Given the description of an element on the screen output the (x, y) to click on. 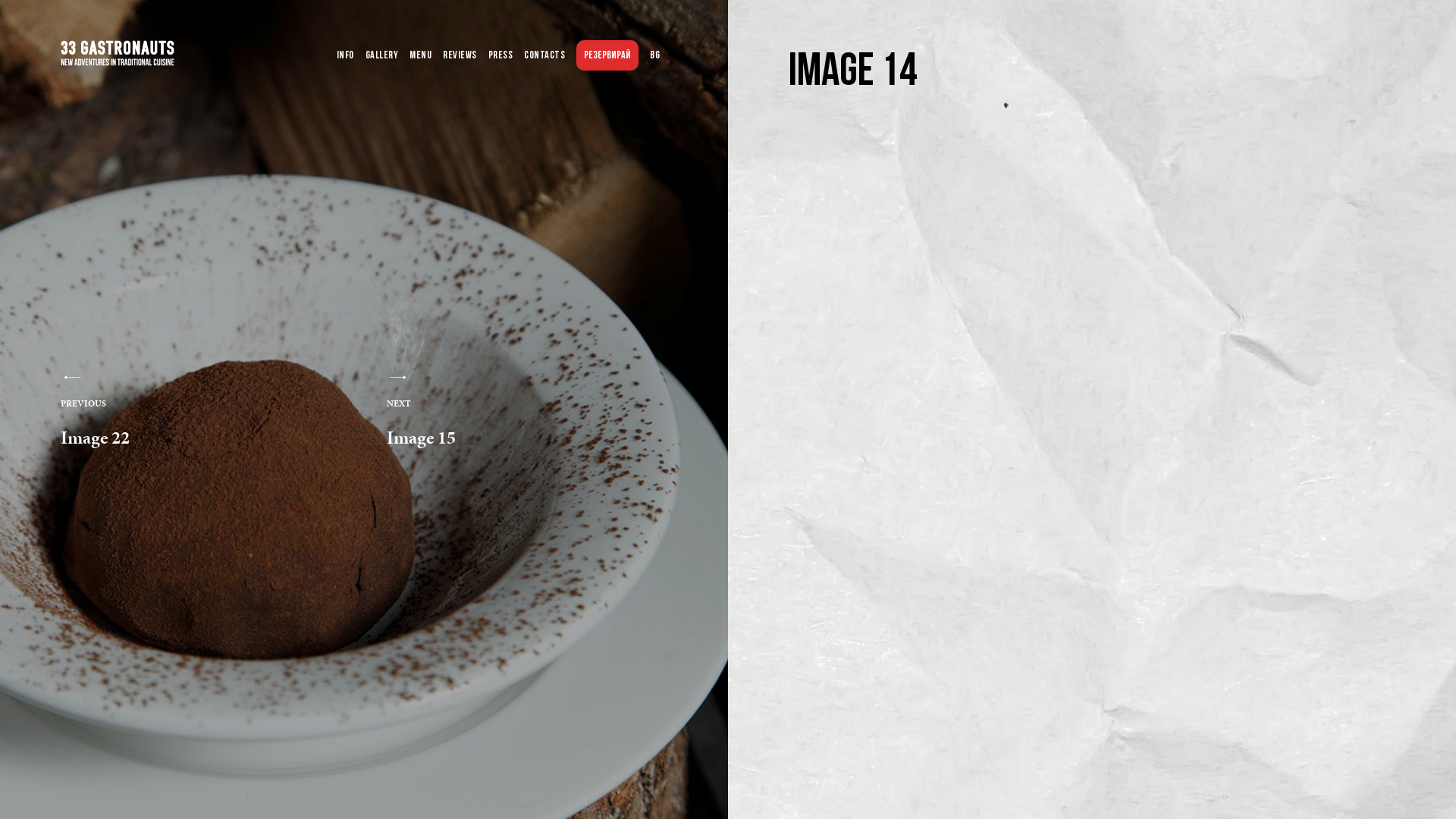
PREVIOUS
Image 22 Element type: text (158, 409)
Skip to content Element type: text (0, 0)
Contacts Element type: text (544, 56)
Menu Element type: text (420, 56)
Reviews Element type: text (459, 56)
33 Gastronauts Element type: text (66, 213)
Search Element type: text (15, 15)
Info Element type: text (345, 56)
BG Element type: text (654, 56)
Gallery Element type: text (381, 56)
NEXT
Image 15 Element type: text (484, 409)
Press Element type: text (500, 56)
